Given the description of an element on the screen output the (x, y) to click on. 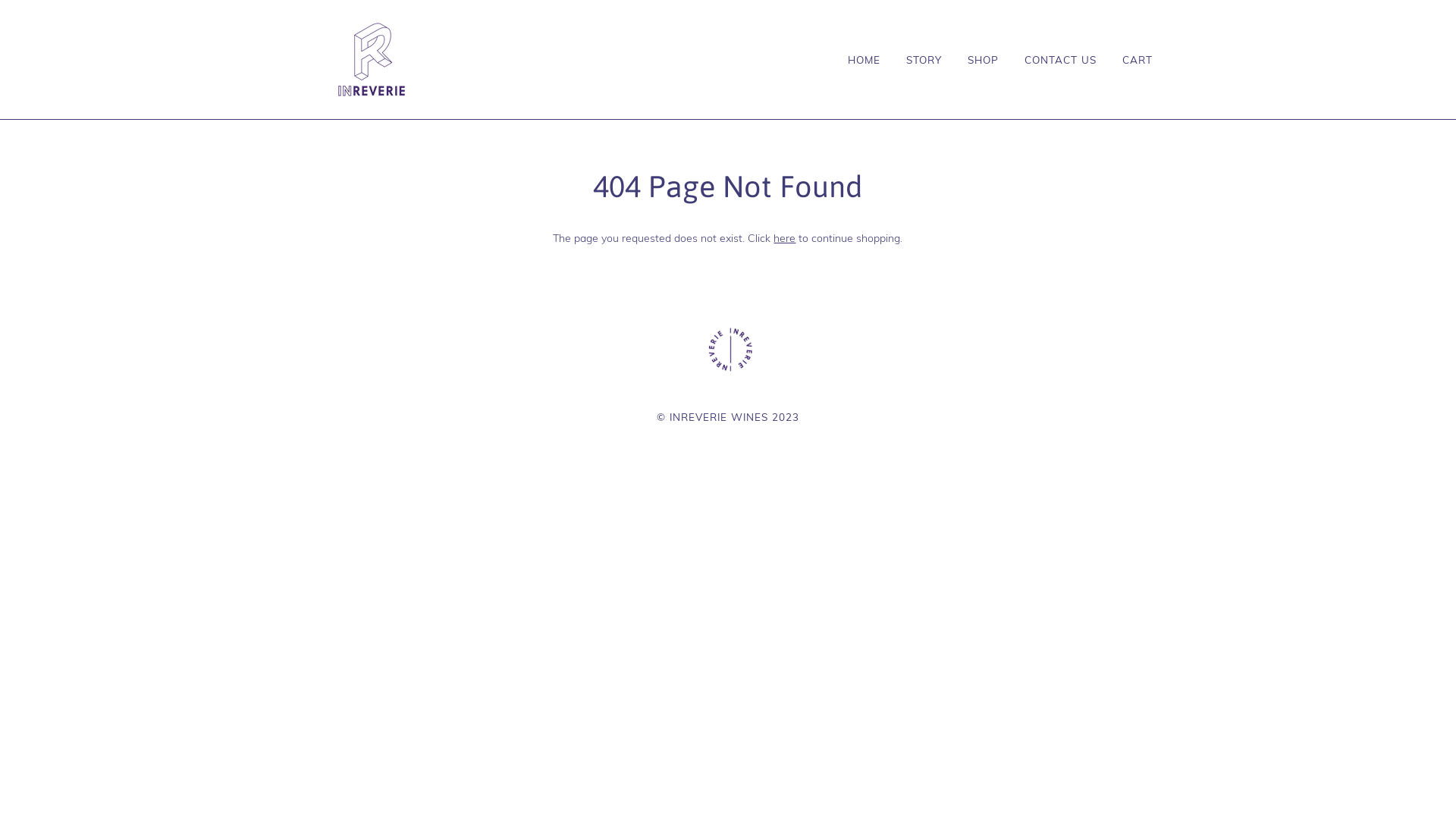
here Element type: text (784, 237)
STORY Element type: text (912, 59)
HOME Element type: text (860, 59)
CART Element type: text (1125, 59)
SHOP Element type: text (971, 59)
CONTACT US Element type: text (1048, 59)
